Given the description of an element on the screen output the (x, y) to click on. 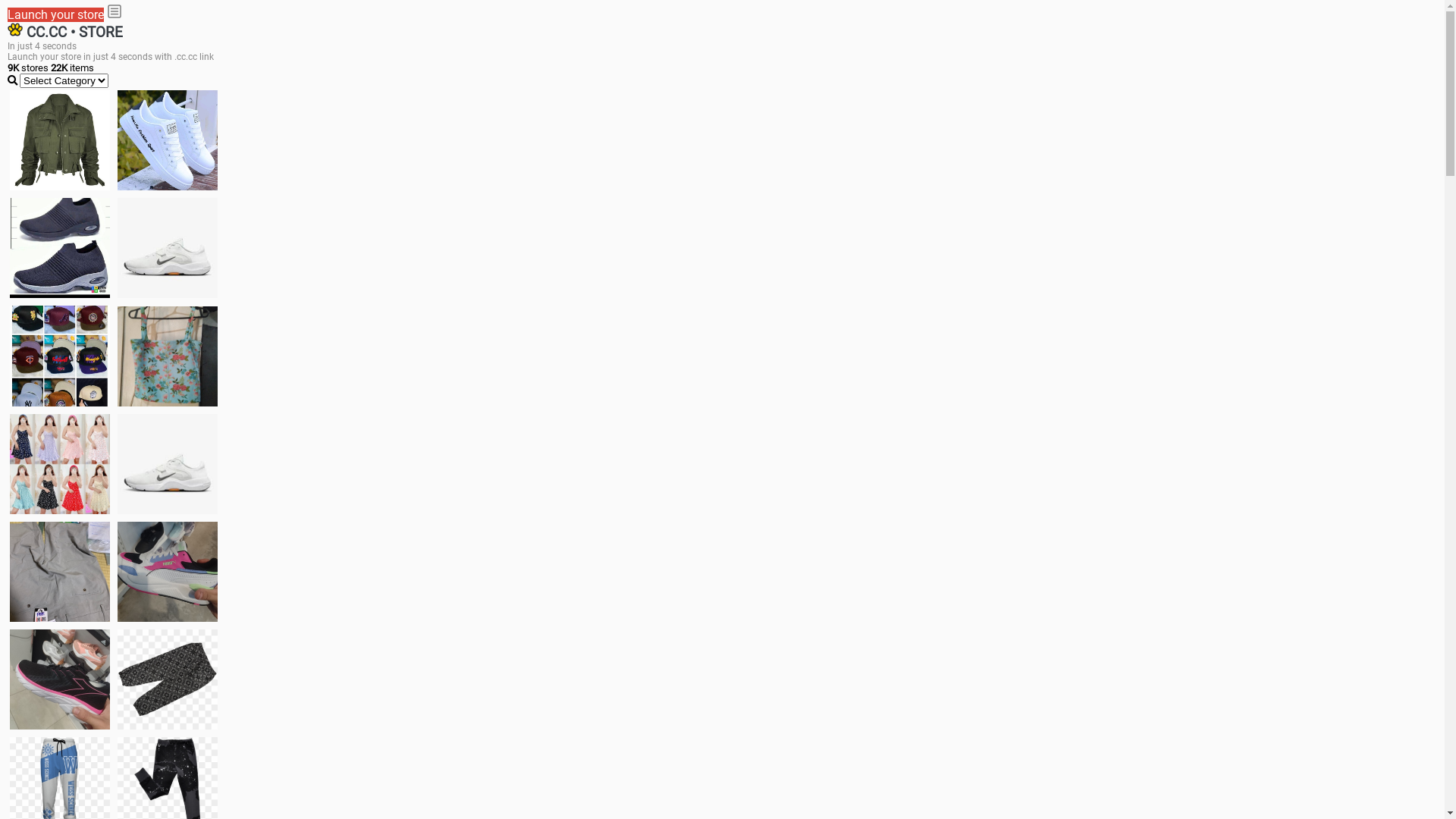
Shoes Element type: hover (167, 464)
shoes for boys Element type: hover (59, 247)
Zapatillas Element type: hover (59, 679)
Launch your store Element type: text (55, 14)
Short pant Element type: hover (167, 679)
Zapatillas pumas Element type: hover (167, 571)
Things we need Element type: hover (59, 355)
white shoes Element type: hover (167, 140)
Dress/square nect top Element type: hover (59, 464)
jacket Element type: hover (59, 140)
Shoes for boys Element type: hover (167, 247)
Ukay cloth Element type: hover (167, 356)
